Given the description of an element on the screen output the (x, y) to click on. 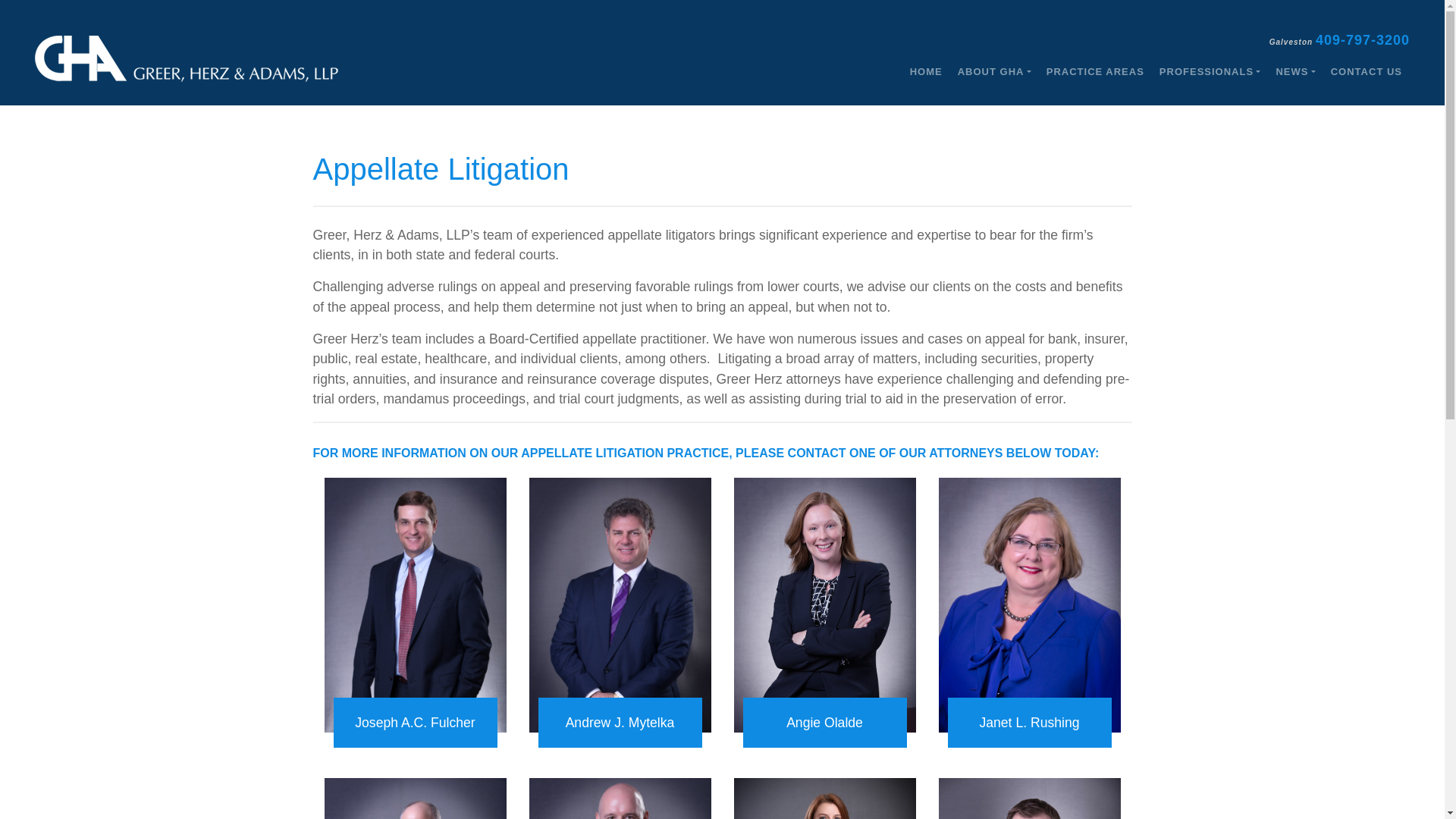
409-797-3200 (1362, 39)
Angie Olalde (824, 722)
ABOUT GHA (994, 72)
Contact Us (1366, 72)
Janet L. Rushing (1029, 722)
Andrew J. Mytelka (619, 722)
PRACTICE AREAS (1095, 72)
About GHA (994, 72)
Practice Areas (1095, 72)
Home (926, 72)
CONTACT US (1366, 72)
HOME (926, 72)
News (1295, 72)
NEWS (1295, 72)
Professionals (1209, 72)
